Given the description of an element on the screen output the (x, y) to click on. 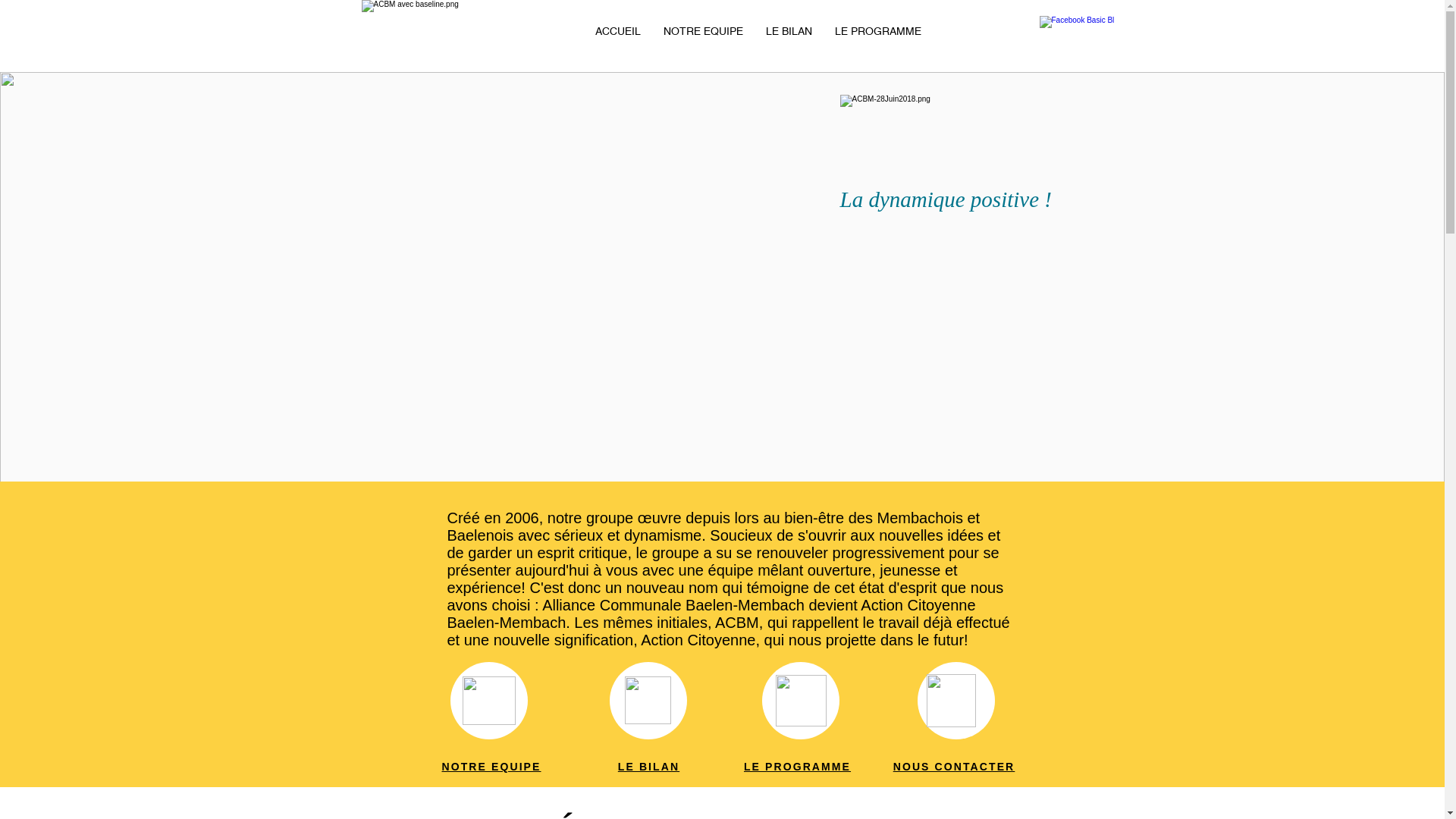
NOTRE EQUIPE Element type: text (490, 766)
LE PROGRAMME Element type: text (796, 766)
LE BILAN Element type: text (648, 766)
LE PROGRAMME Element type: text (877, 30)
NOUS CONTACTER Element type: text (954, 766)
LE BILAN Element type: text (787, 30)
ACCUEIL Element type: text (617, 30)
NOTRE EQUIPE Element type: text (703, 30)
